Given the description of an element on the screen output the (x, y) to click on. 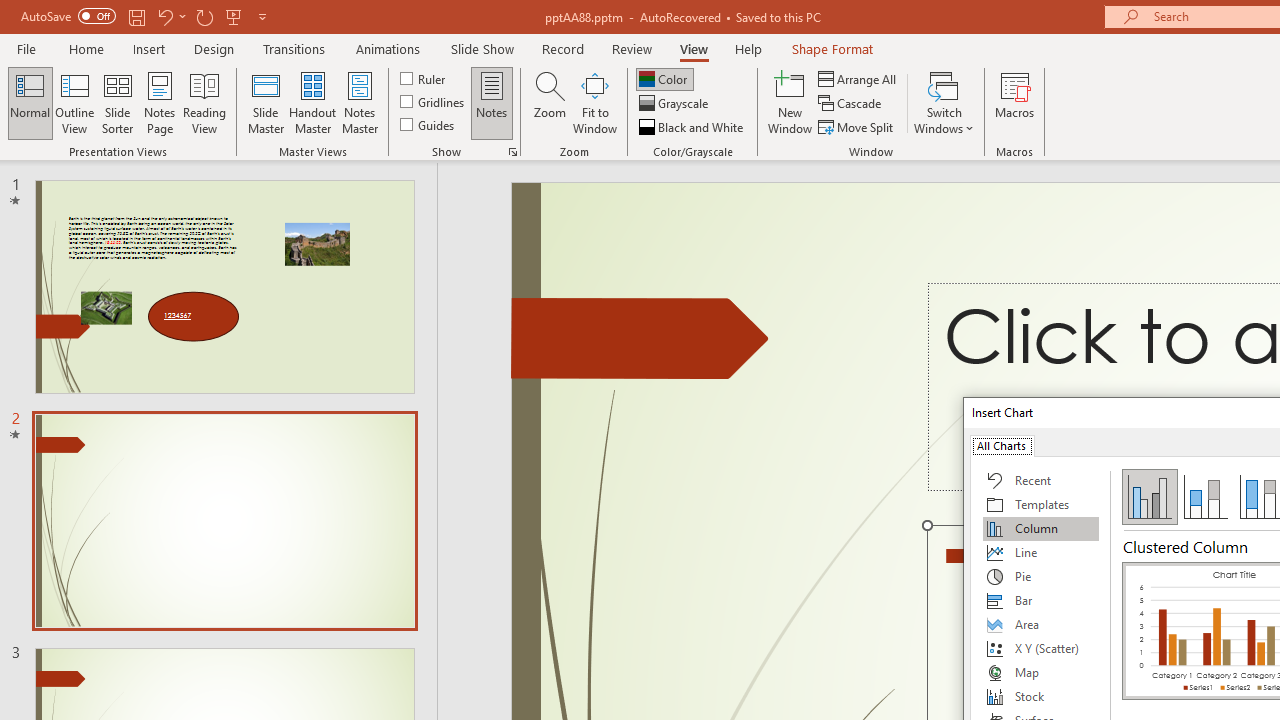
Zoom... (549, 102)
Guides (428, 124)
Outline View (74, 102)
All Charts (1001, 444)
Switch Windows (943, 102)
Column (1041, 528)
Notes (492, 102)
Pie (1041, 576)
